Given the description of an element on the screen output the (x, y) to click on. 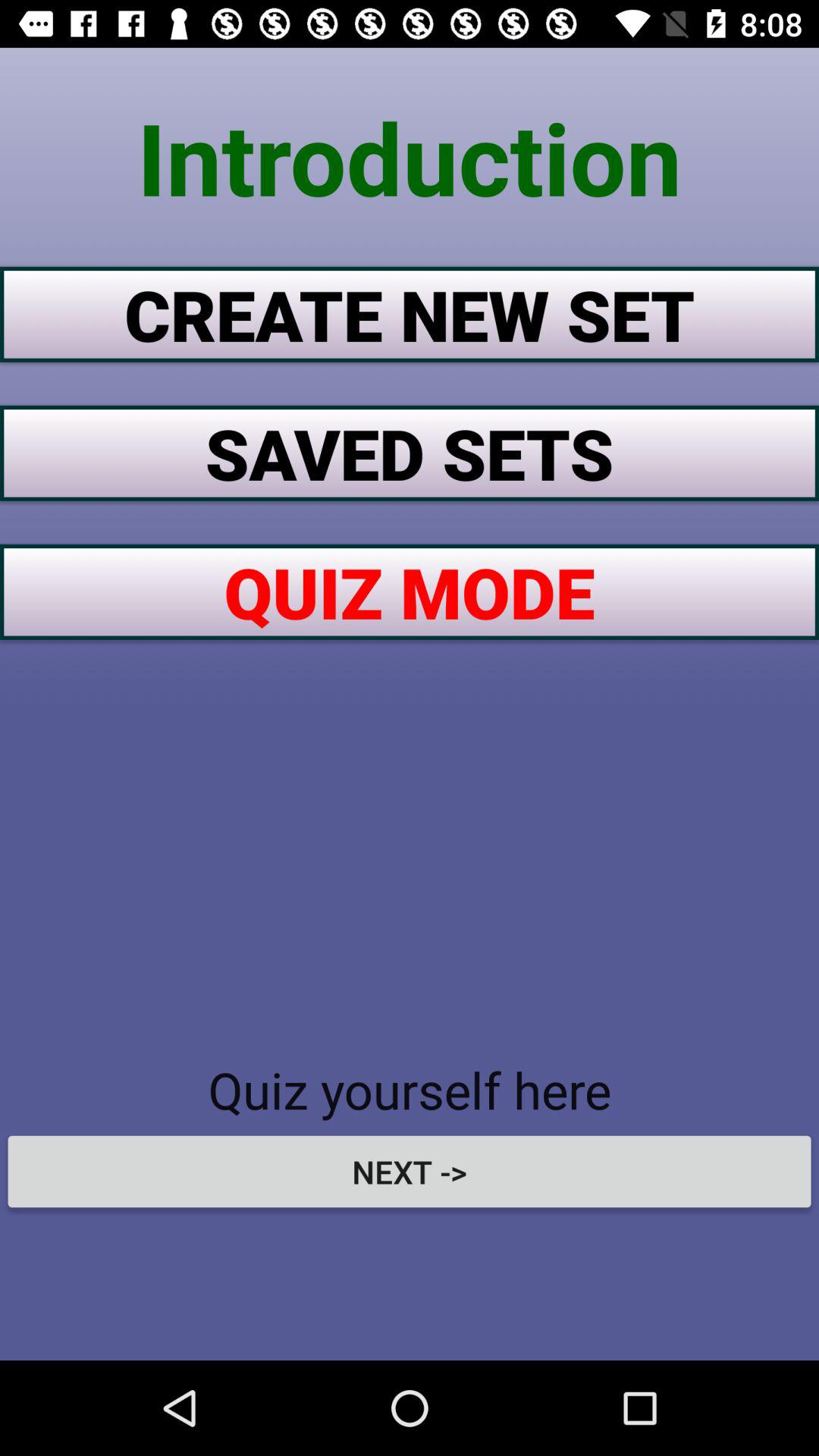
tap the item at the center (409, 591)
